Given the description of an element on the screen output the (x, y) to click on. 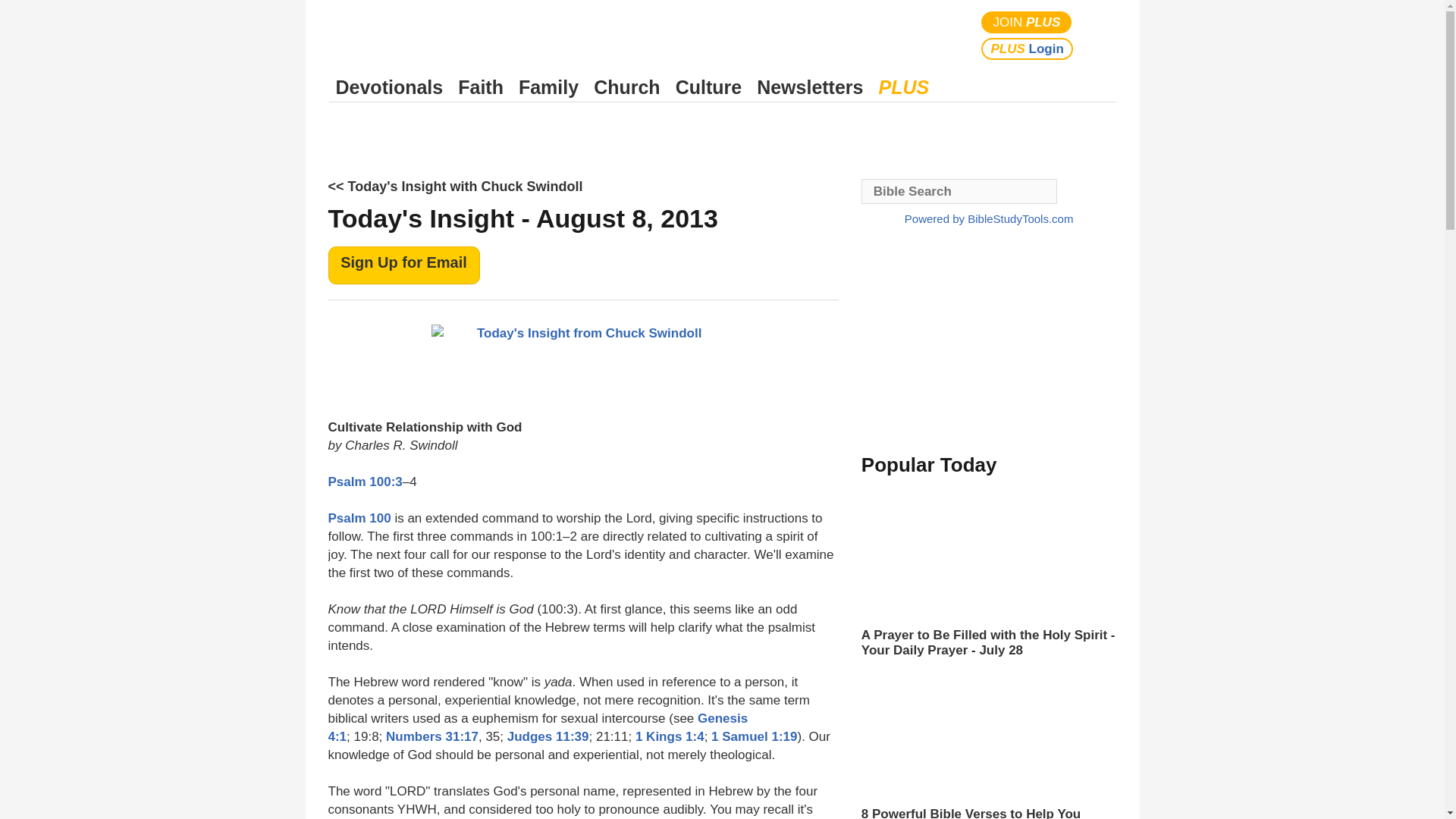
Family (548, 87)
JOIN PLUS (1026, 22)
Join Plus (1026, 22)
Plus Login (1026, 48)
Faith (481, 87)
Devotionals (389, 87)
Search (1101, 34)
PLUS Login (1026, 48)
